Given the description of an element on the screen output the (x, y) to click on. 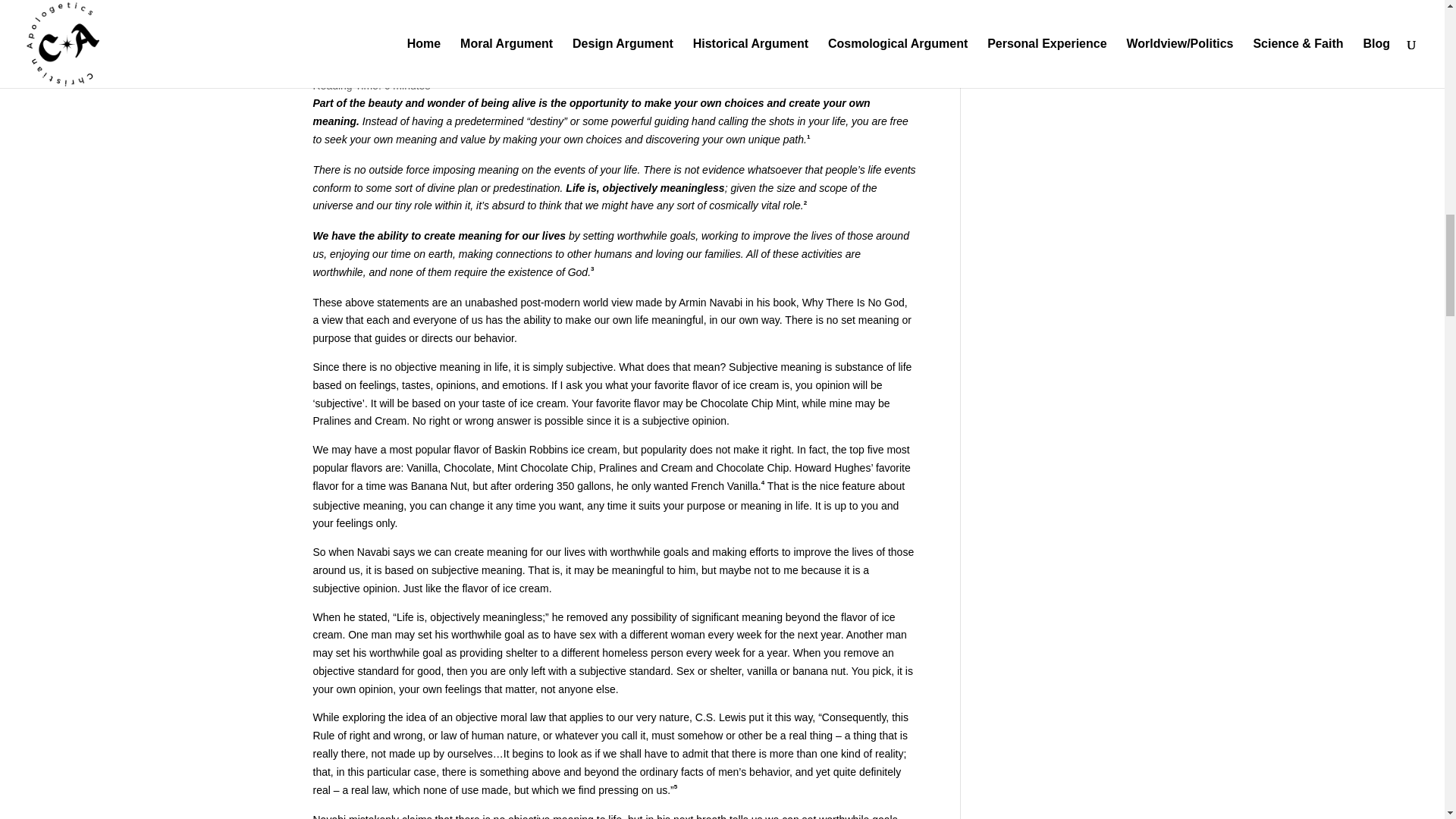
james (340, 51)
Tough Questions (469, 51)
Posts by james (340, 51)
Sex or Shelter (375, 25)
